Given the description of an element on the screen output the (x, y) to click on. 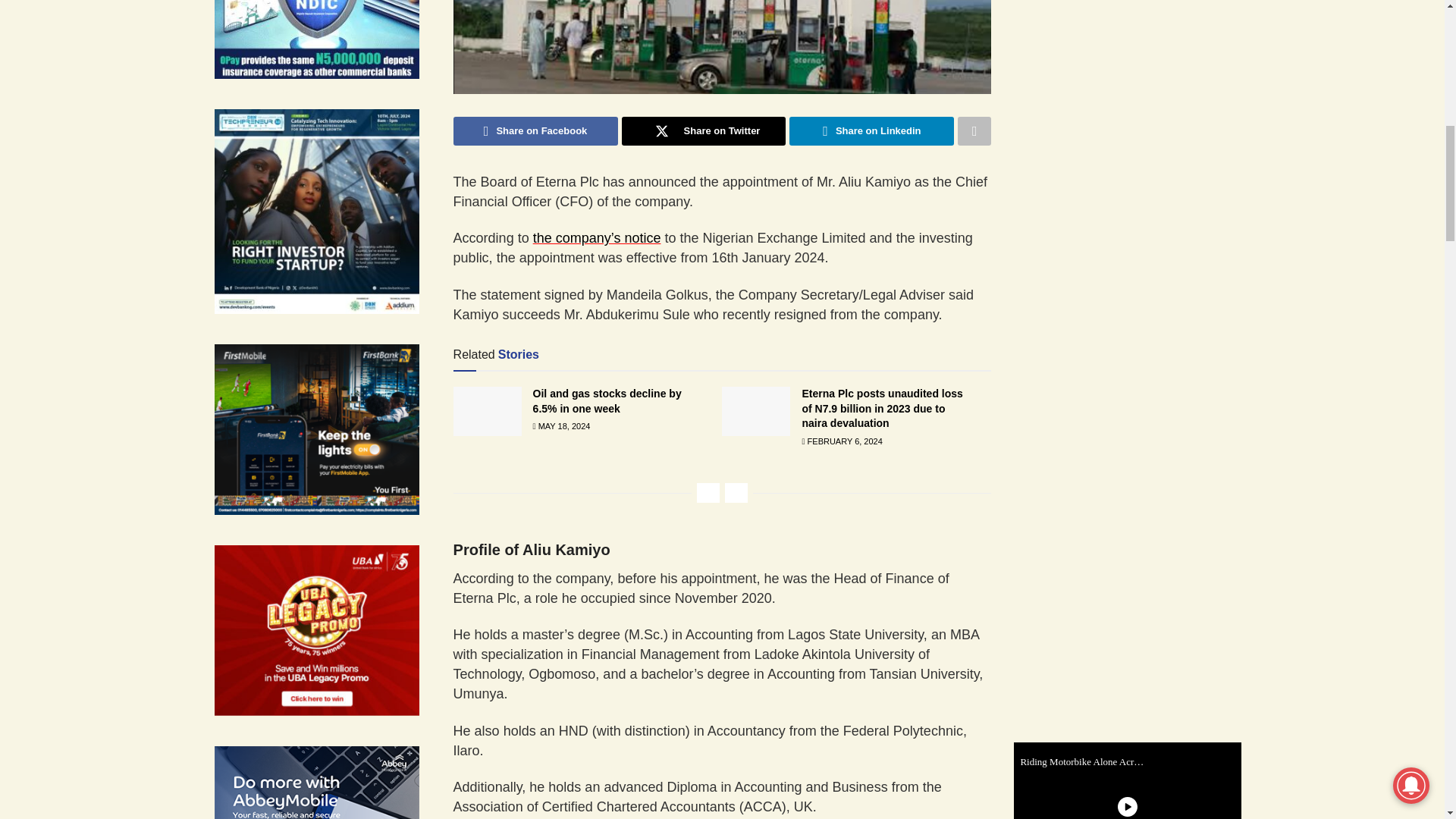
Advertisement (1138, 253)
Previous (708, 492)
Next (736, 492)
Advertisement (1138, 61)
